Given the description of an element on the screen output the (x, y) to click on. 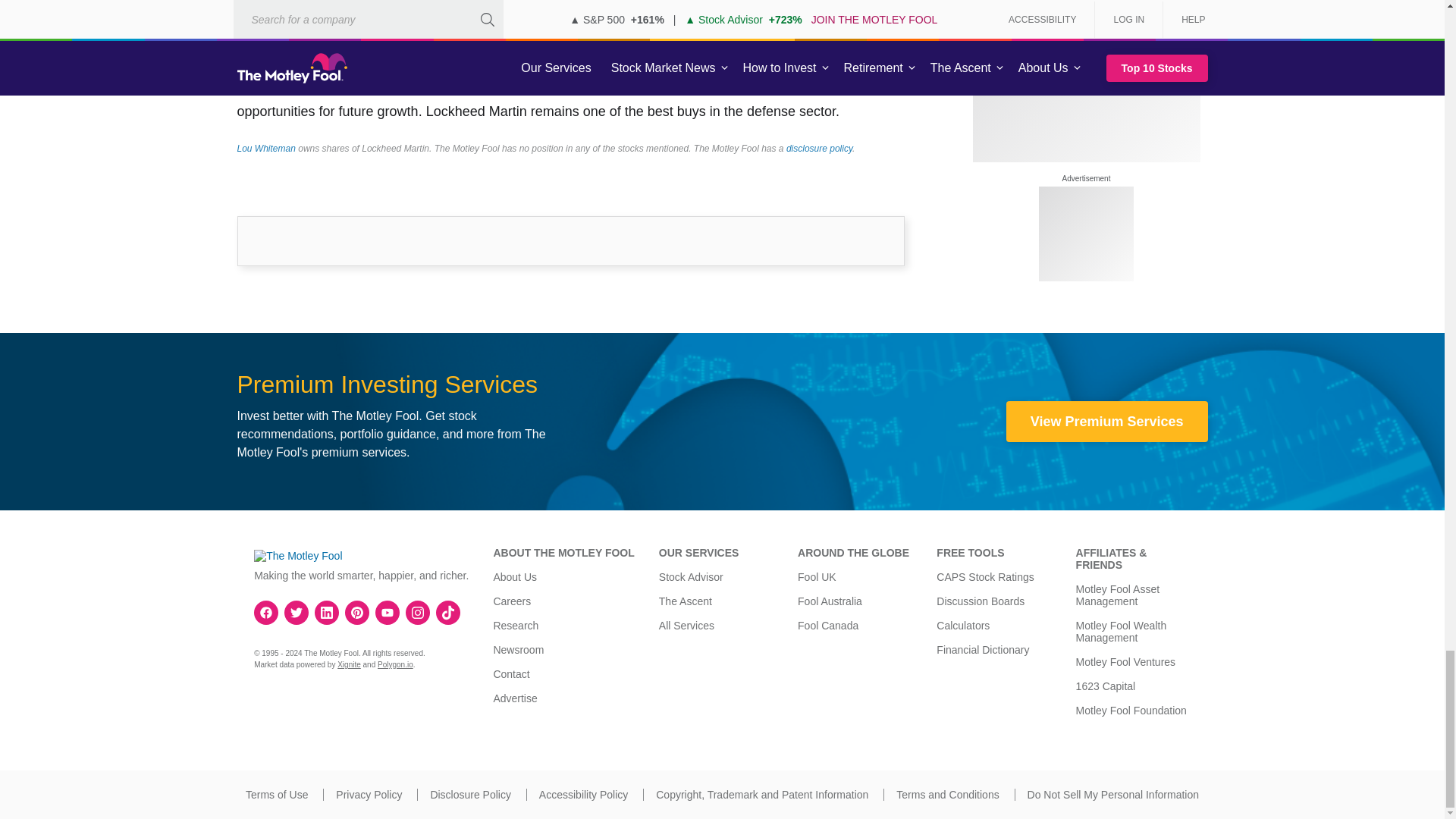
Accessibility Policy (582, 794)
Privacy Policy (368, 794)
Do Not Sell My Personal Information. (1112, 794)
Copyright, Trademark and Patent Information (761, 794)
Terms and Conditions (947, 794)
Terms of Use (276, 794)
Disclosure Policy (470, 794)
